Given the description of an element on the screen output the (x, y) to click on. 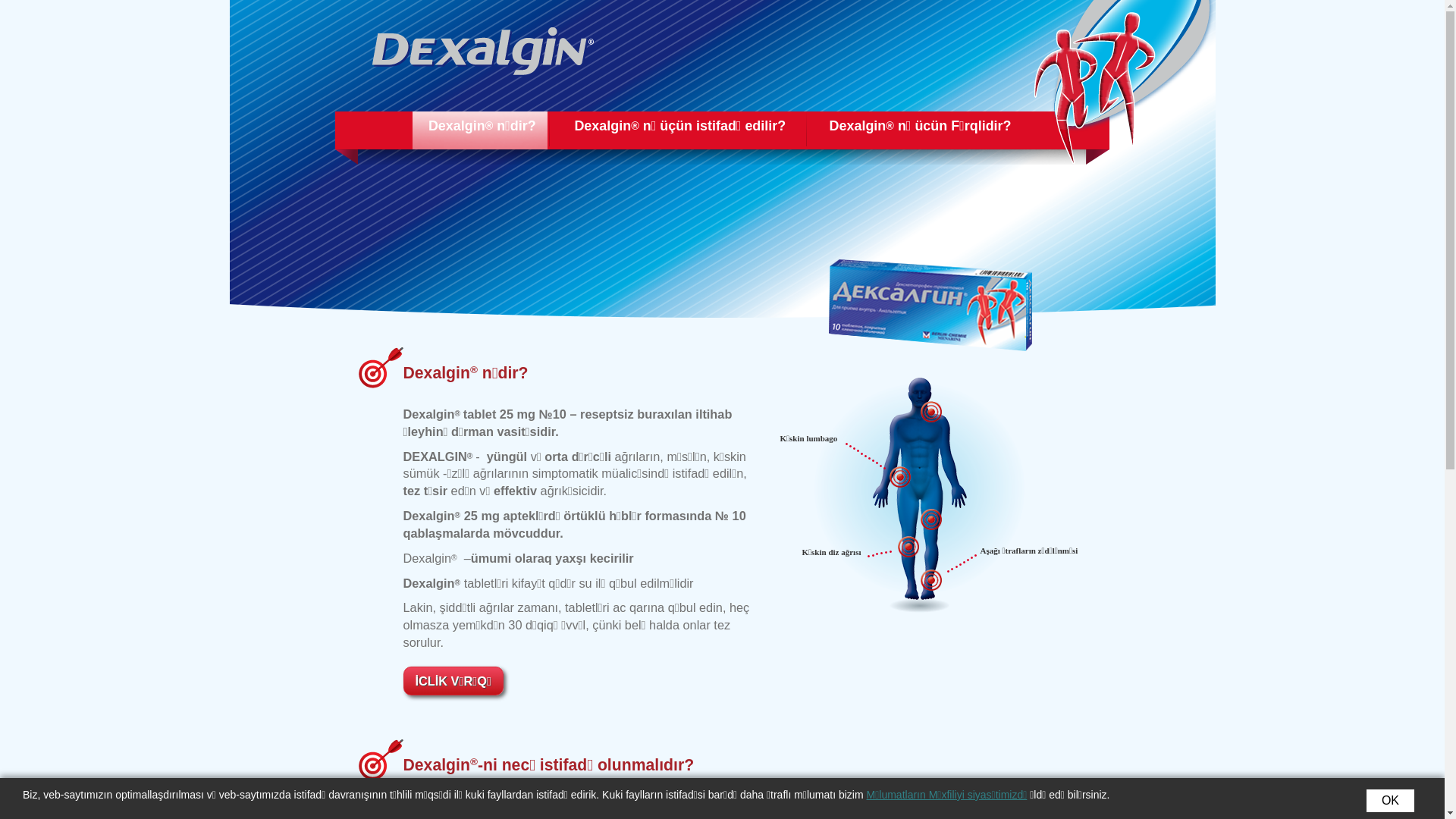
OK Element type: text (1390, 800)
